Given the description of an element on the screen output the (x, y) to click on. 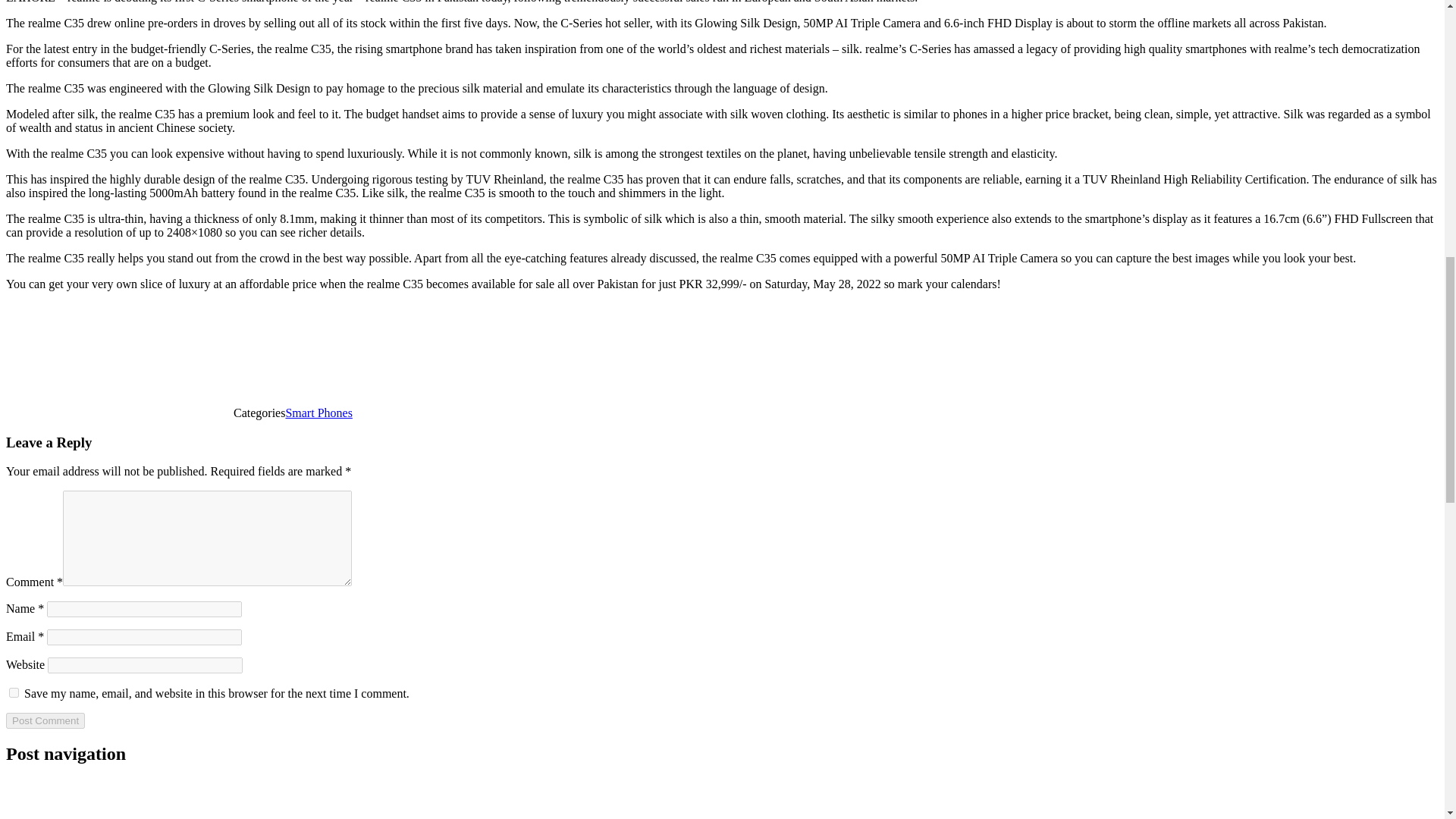
yes (13, 692)
Smart Phones (318, 412)
Post Comment (44, 720)
Post Comment (44, 720)
